Given the description of an element on the screen output the (x, y) to click on. 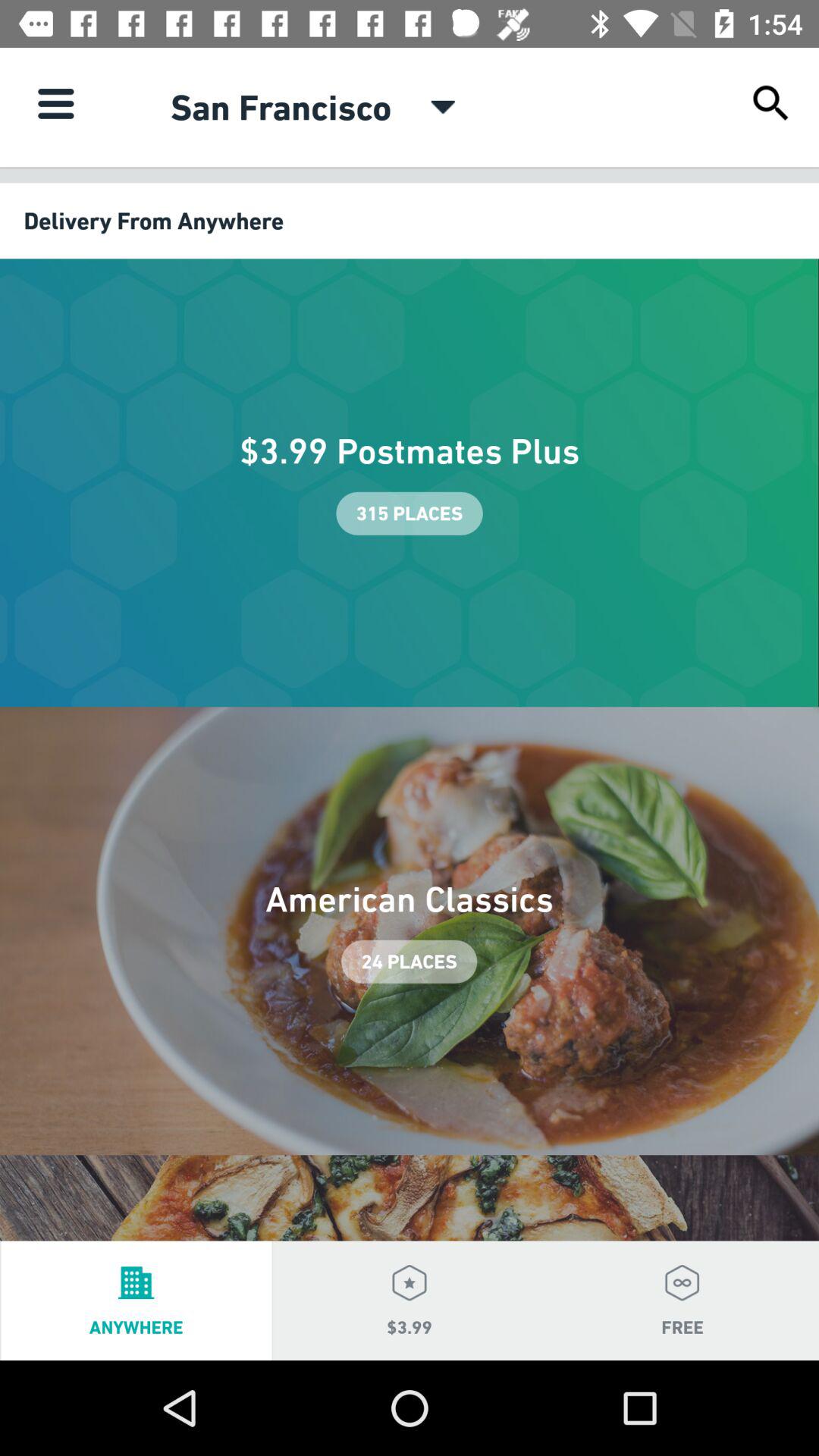
scroll to san francisco (280, 107)
